Given the description of an element on the screen output the (x, y) to click on. 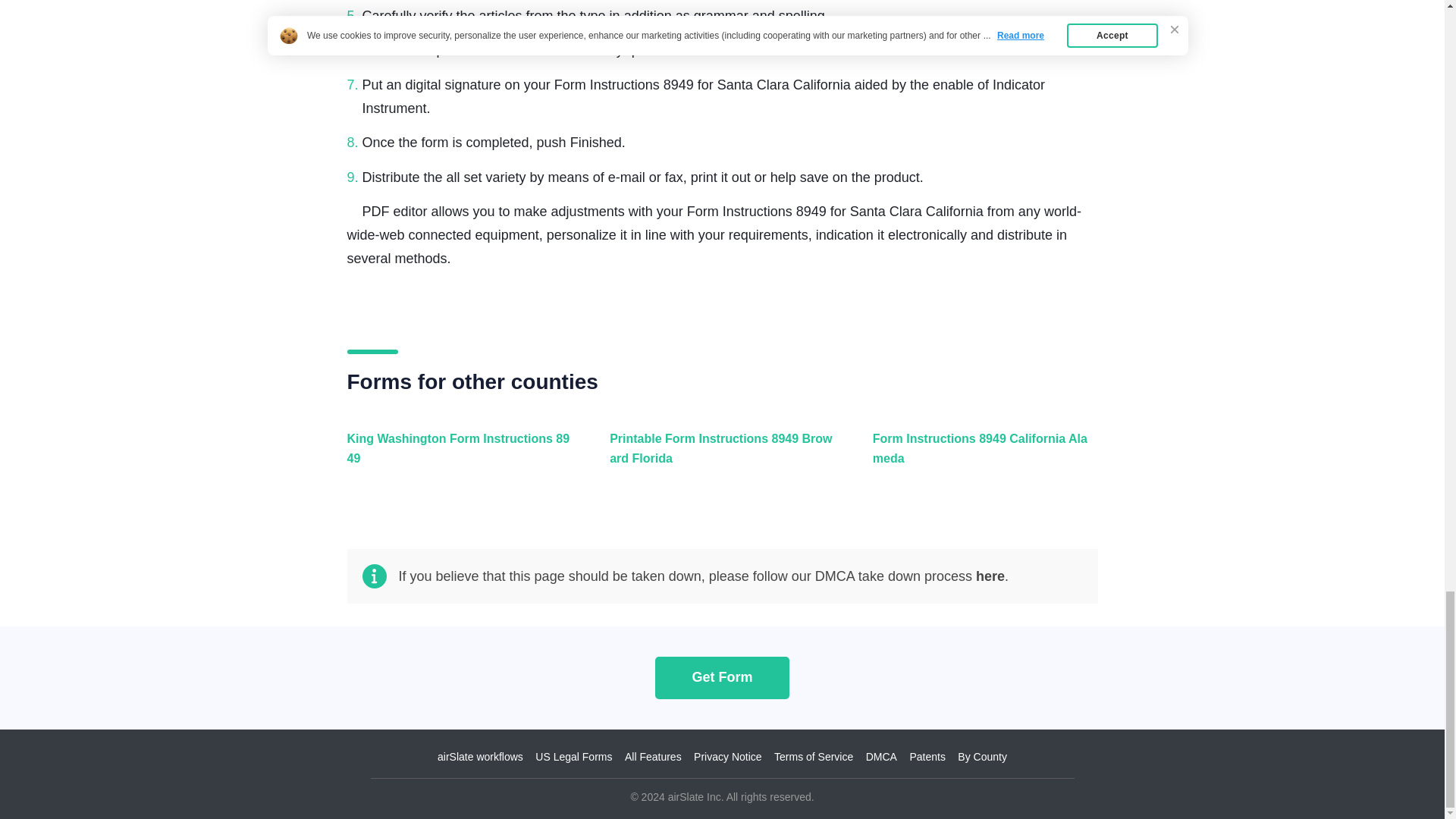
airSlate workflows (480, 756)
By County (982, 756)
Privacy Notice (727, 756)
Terms of Service (813, 756)
Get Form (722, 676)
US Legal Forms (573, 756)
King Washington Form Instructions 8949 (456, 456)
here (989, 575)
Form Instructions 8949 California Alameda (981, 456)
DMCA (881, 756)
Printable Form Instructions 8949 Broward Florida (718, 456)
All Features (652, 756)
Patents (926, 756)
